Given the description of an element on the screen output the (x, y) to click on. 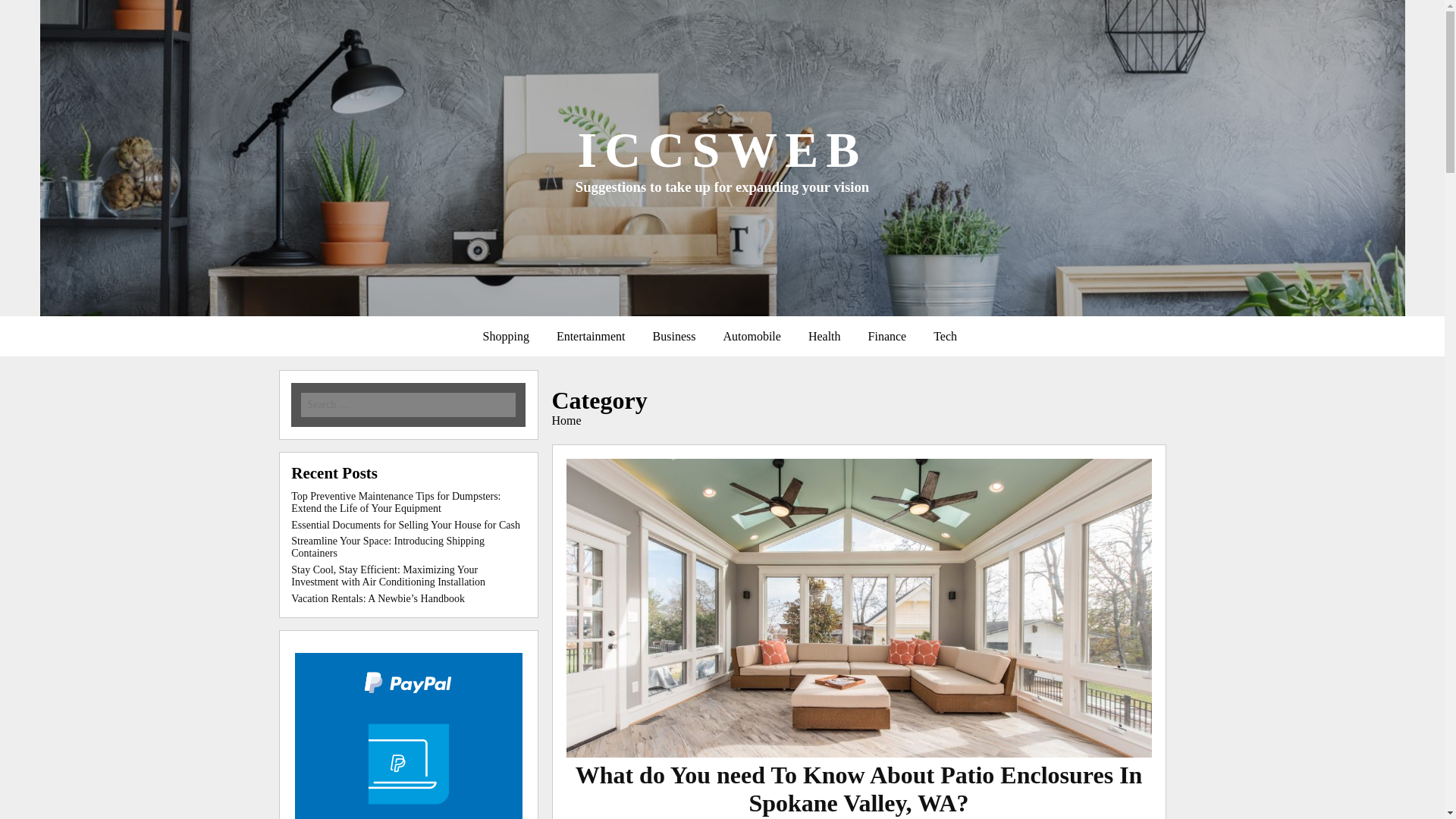
Streamline Your Space: Introducing Shipping Containers (387, 546)
ICCSWEB (722, 149)
Search (216, 11)
Tech (945, 336)
January 26, 2023 (858, 817)
Automobile (751, 336)
Business (673, 336)
